Given the description of an element on the screen output the (x, y) to click on. 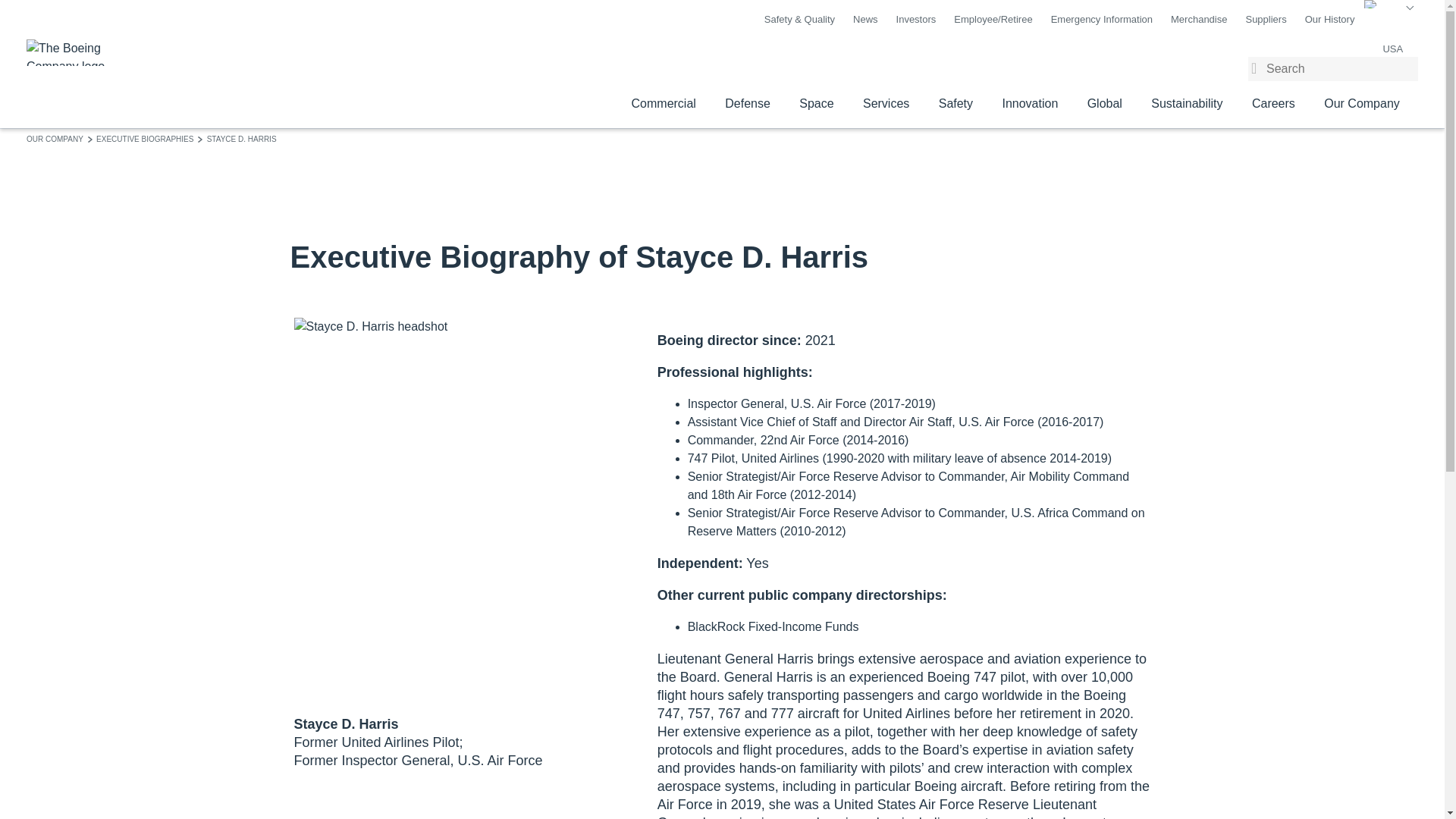
Suppliers (1264, 19)
Our History (1329, 19)
Merchandise (1198, 19)
Emergency Information (1102, 19)
Investors (916, 19)
News (865, 19)
Commercial (662, 104)
